Given the description of an element on the screen output the (x, y) to click on. 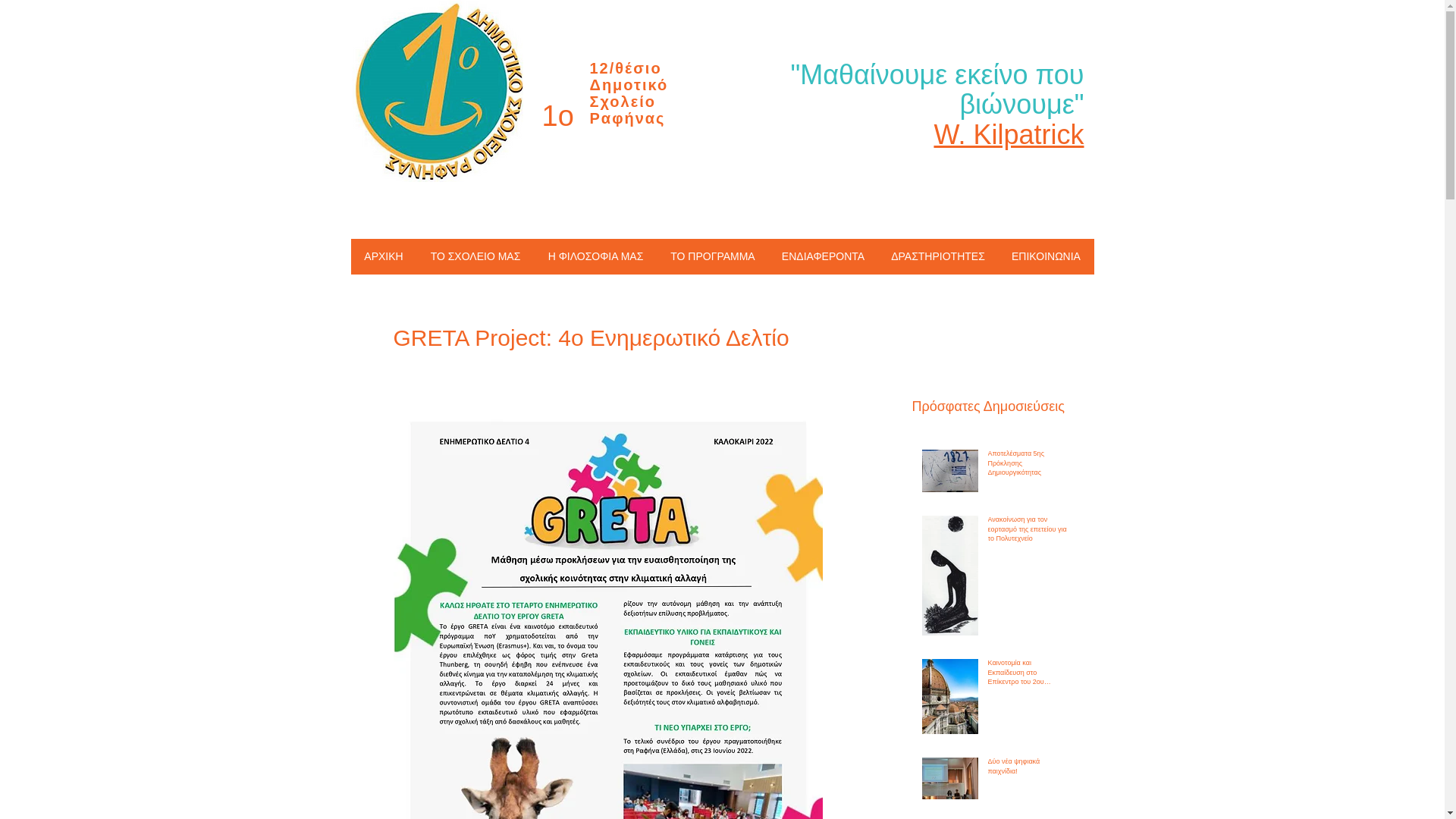
W. Kilpatrick Element type: text (1008, 134)
